Given the description of an element on the screen output the (x, y) to click on. 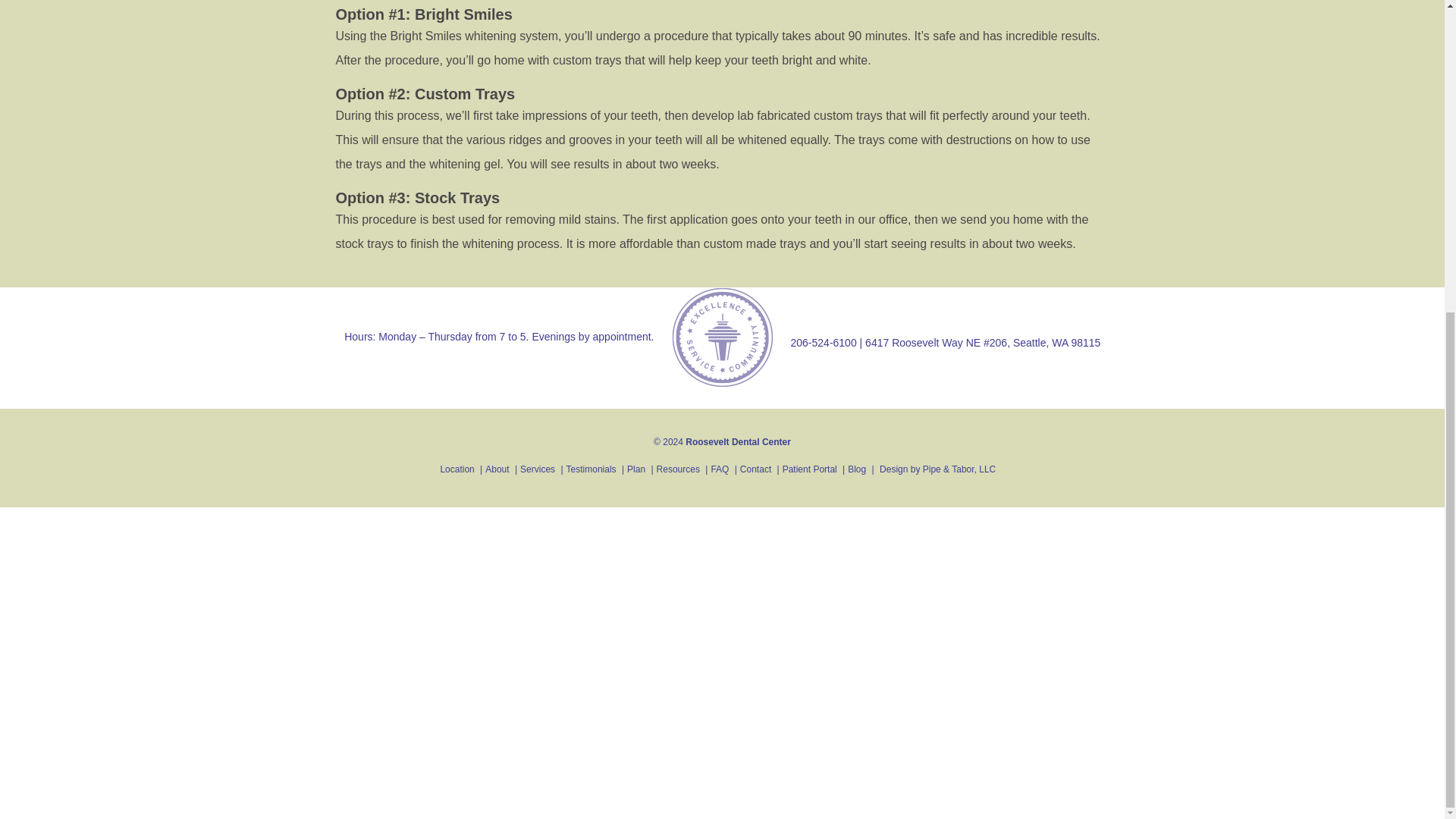
Blog (856, 469)
Testimonials (590, 469)
FAQ (719, 469)
206-524-6100 (823, 342)
Services (536, 469)
Location (456, 469)
Plan (636, 469)
Resources (678, 469)
Patient Portal (810, 469)
Contact (755, 469)
